Given the description of an element on the screen output the (x, y) to click on. 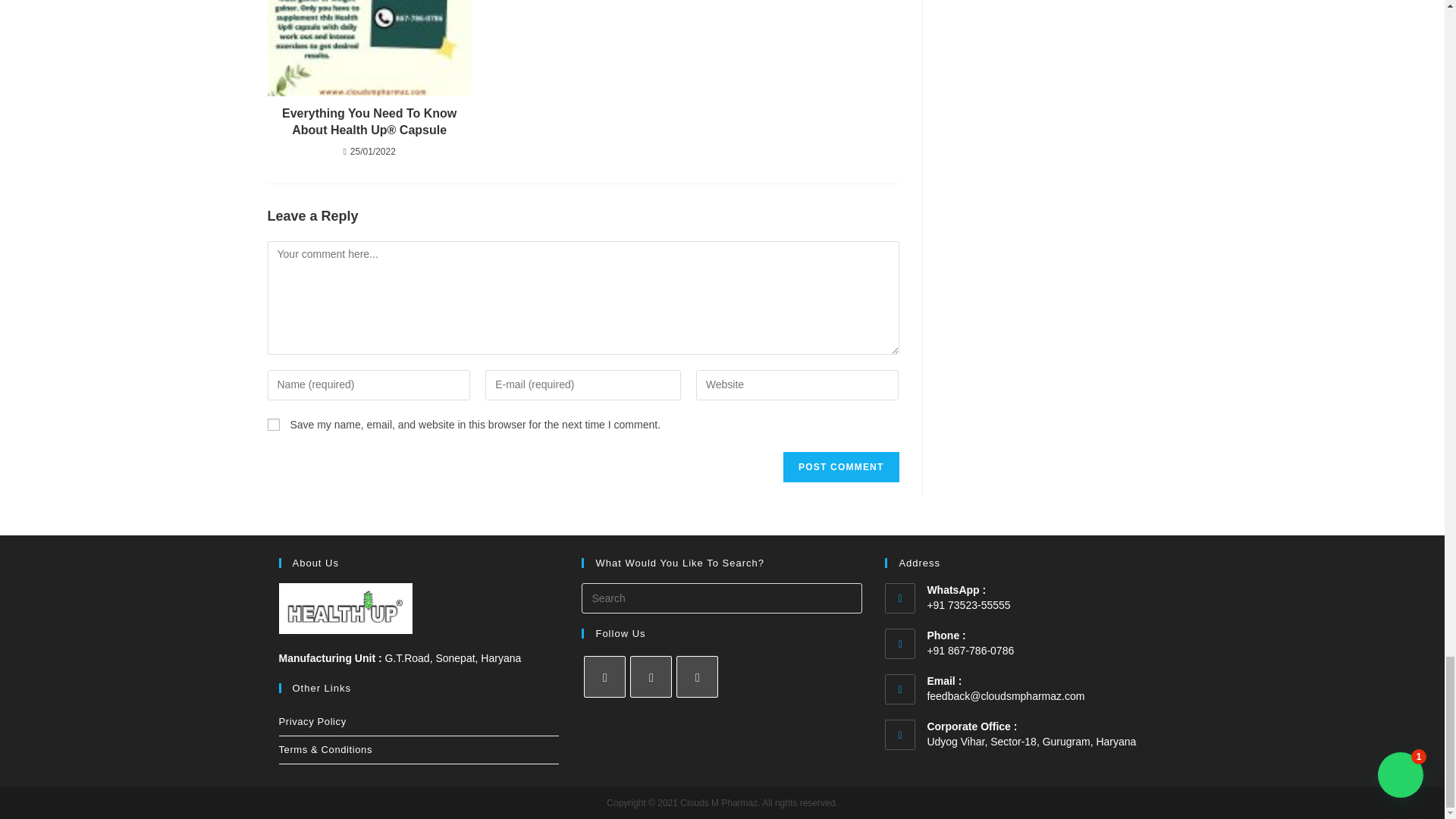
Post Comment (840, 467)
yes (272, 424)
Privacy Policy (419, 721)
Post Comment (840, 467)
